Given the description of an element on the screen output the (x, y) to click on. 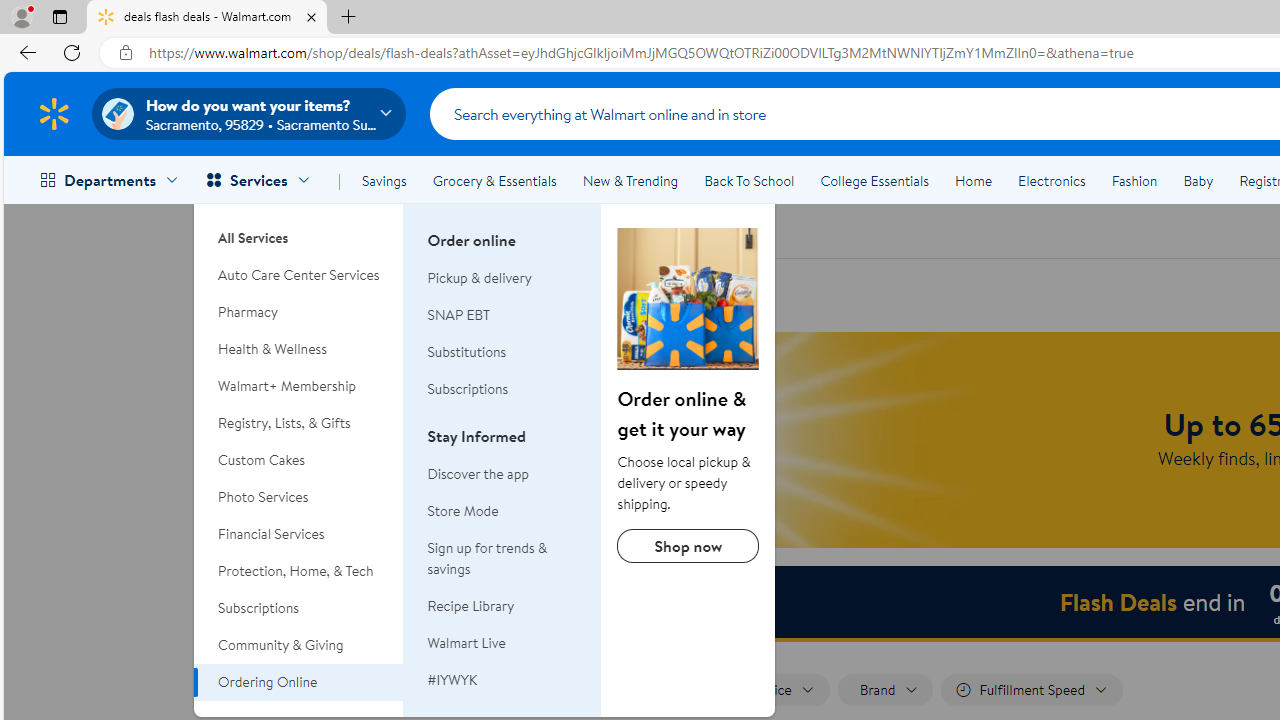
Walmart Live (502, 642)
Photo Services (299, 497)
Back To School (749, 180)
Financial Services (299, 534)
SNAP EBT (502, 315)
Filter by In-store (660, 690)
Fashion (1134, 180)
New & Trending (630, 180)
Auto Care Center Services (299, 275)
Electronics (1051, 180)
Ordering Online (299, 682)
